Given the description of an element on the screen output the (x, y) to click on. 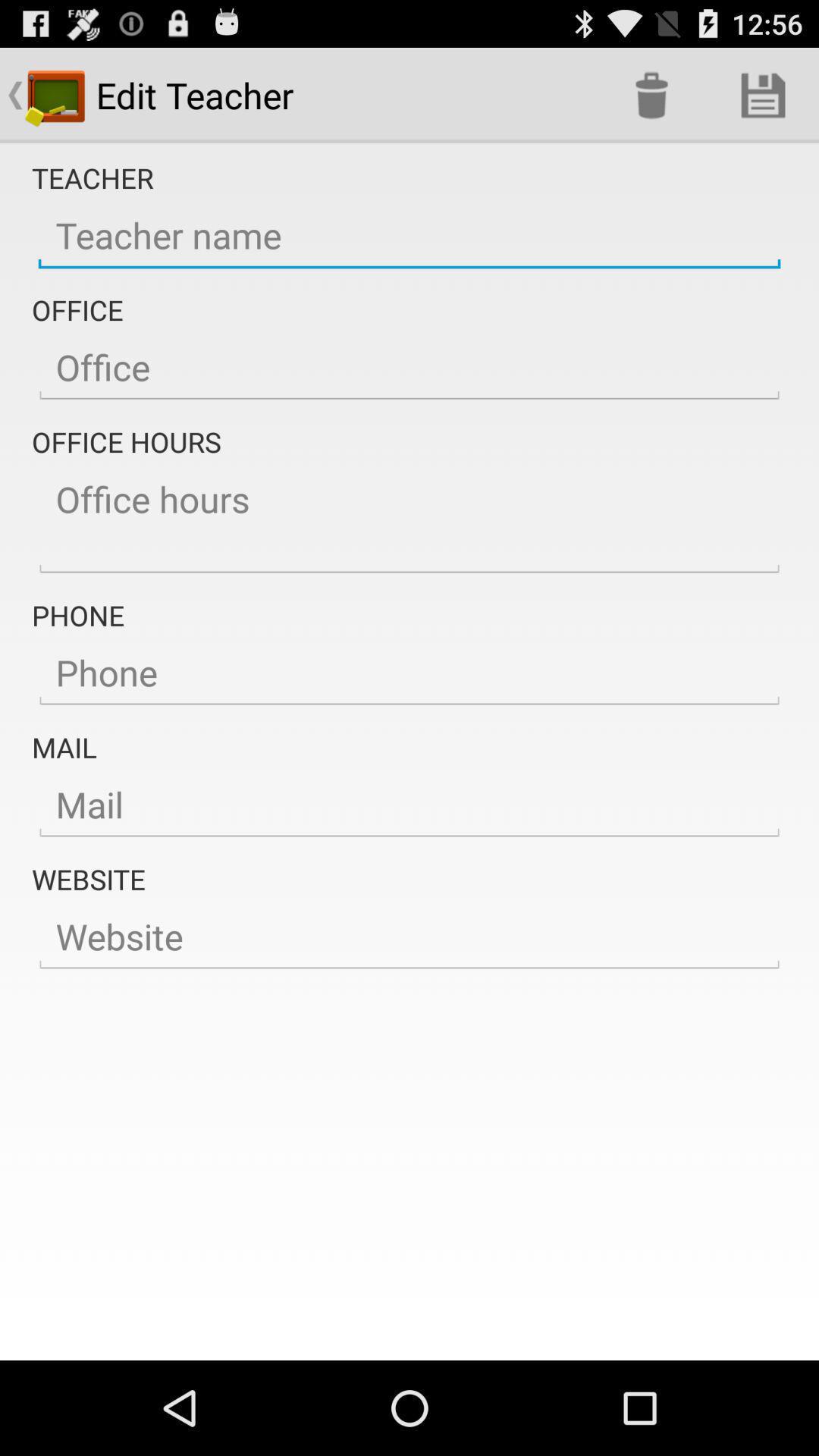
type in the teacher 's website (409, 937)
